Given the description of an element on the screen output the (x, y) to click on. 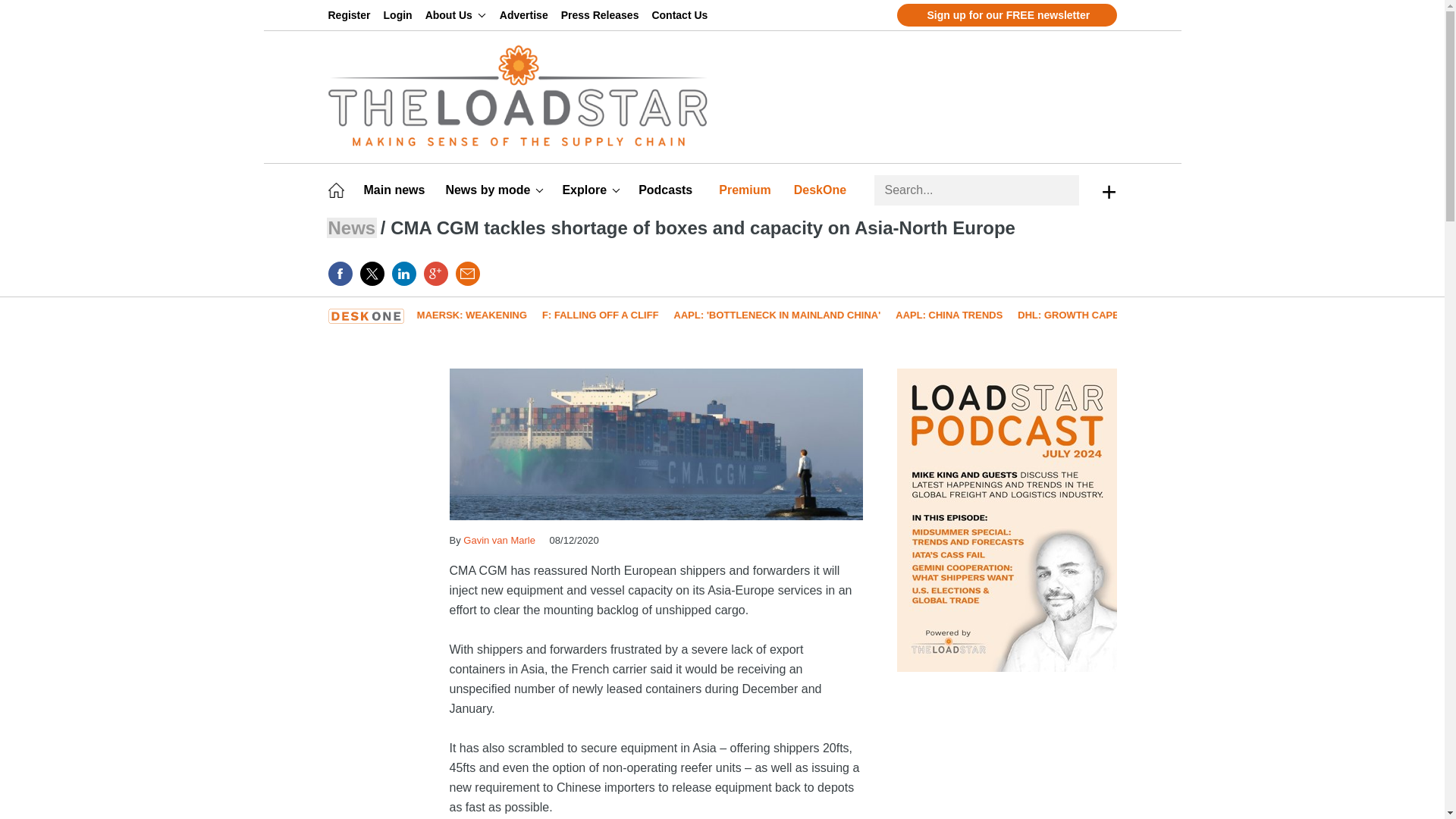
Advertise (526, 15)
Register (351, 15)
About Us (455, 15)
Press Releases (602, 15)
Advertise (526, 15)
Premium (747, 190)
About Us (455, 15)
Login (400, 15)
Contact Us (681, 15)
Login (400, 15)
News by mode (494, 190)
Loadstar Premium (747, 190)
Contact Us (681, 15)
Explore (591, 190)
Main news (397, 190)
